Given the description of an element on the screen output the (x, y) to click on. 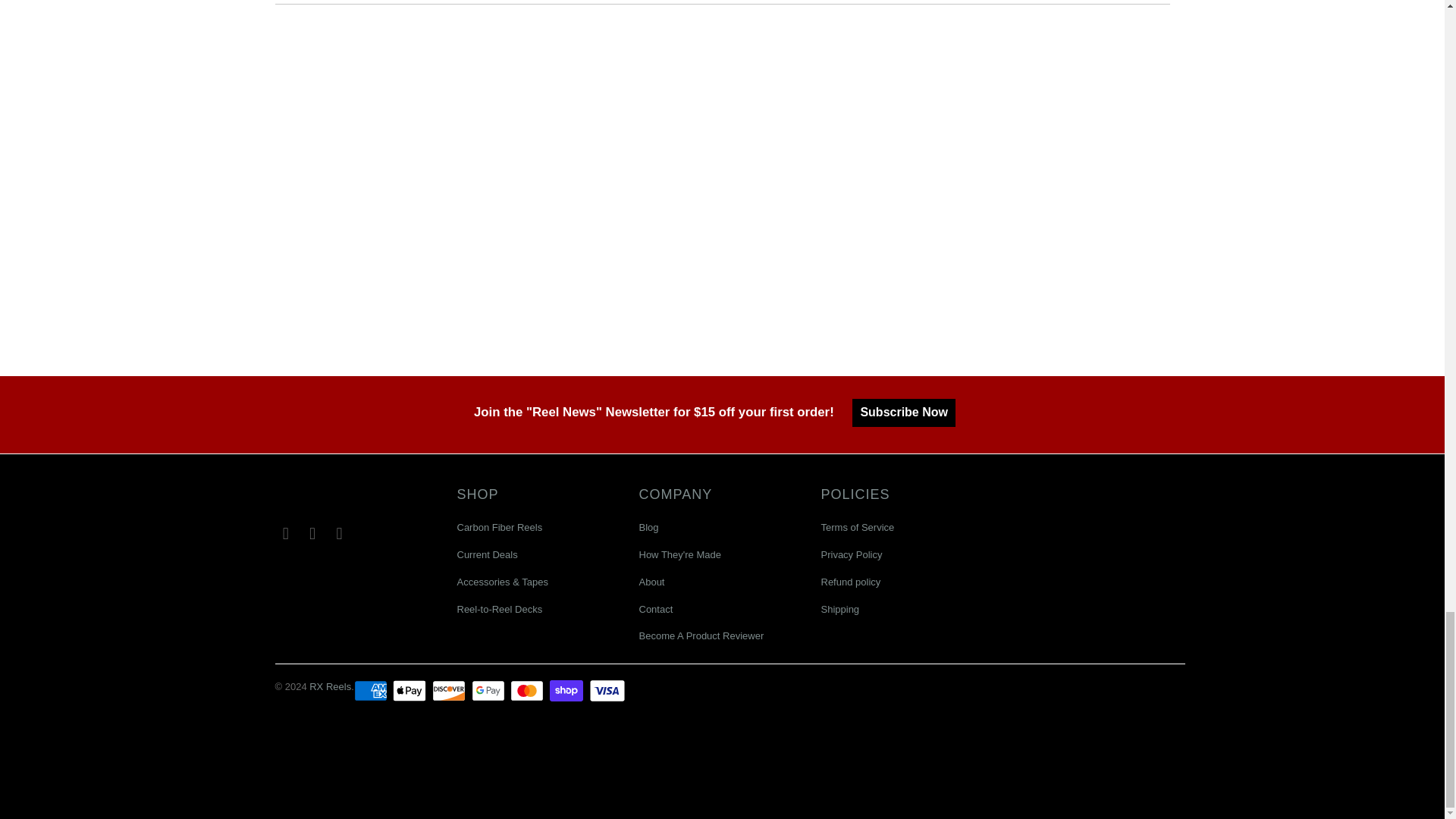
Apple Pay (411, 690)
Discover (450, 690)
Google Pay (489, 690)
Mastercard (529, 690)
American Express (371, 690)
RX Reels on Instagram (339, 533)
RX Reels on YouTube (312, 533)
Shop Pay (568, 690)
RX Reels on Facebook (286, 533)
Visa (607, 690)
